Given the description of an element on the screen output the (x, y) to click on. 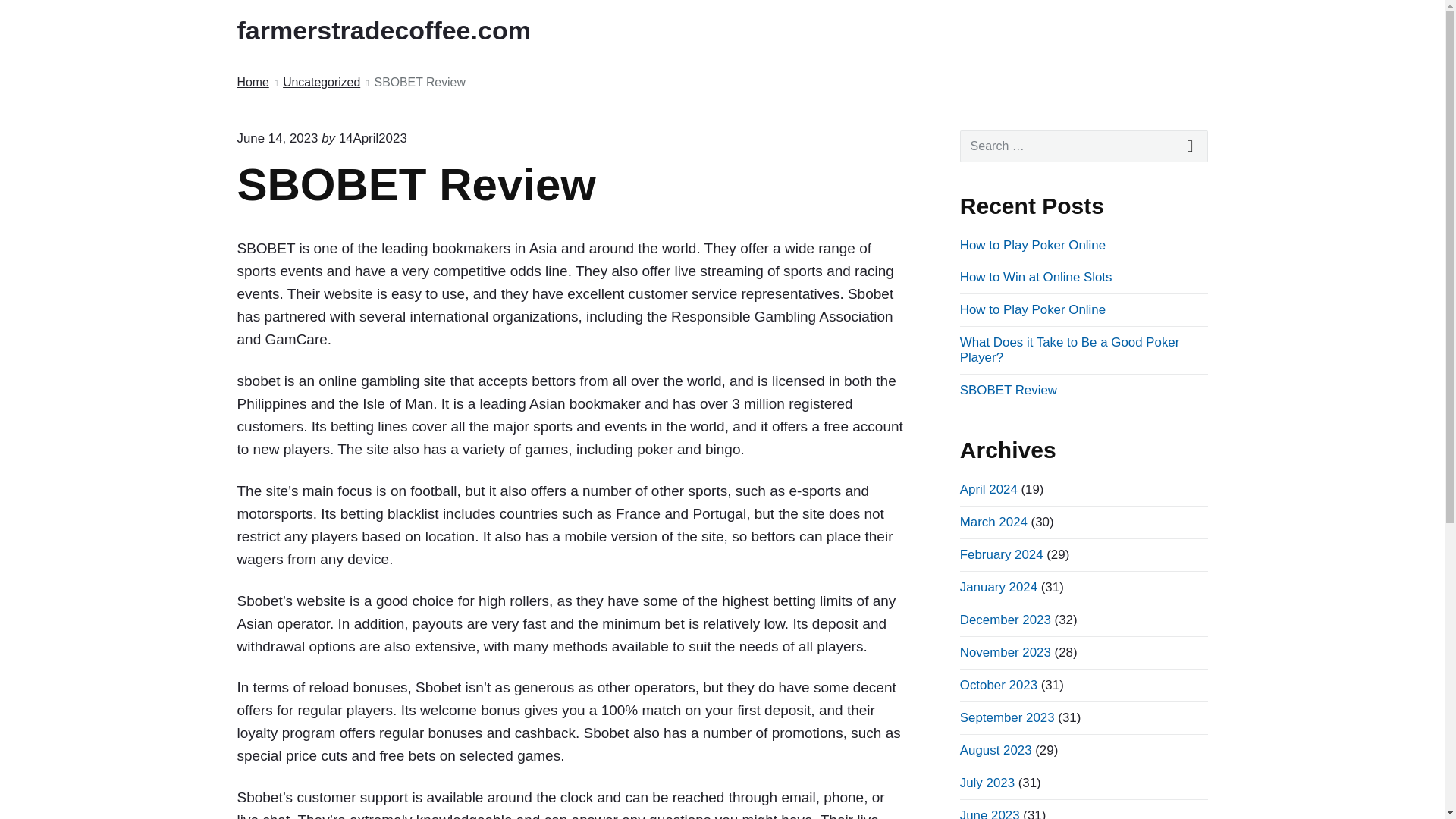
December 2023 (1005, 619)
September 2023 (1006, 717)
Search for: (1083, 146)
October 2023 (997, 685)
How to Win at Online Slots (1035, 277)
Uncategorized (320, 82)
Home (251, 82)
Wednesday, June 14, 2023, 10:41 am (276, 138)
farmerstradecoffee.com (403, 30)
January 2024 (997, 586)
How to Play Poker Online (1032, 245)
14April2023 (373, 138)
SEARCH (1190, 146)
What Does it Take to Be a Good Poker Player? (1069, 349)
Posts by 14April2023 (373, 138)
